Given the description of an element on the screen output the (x, y) to click on. 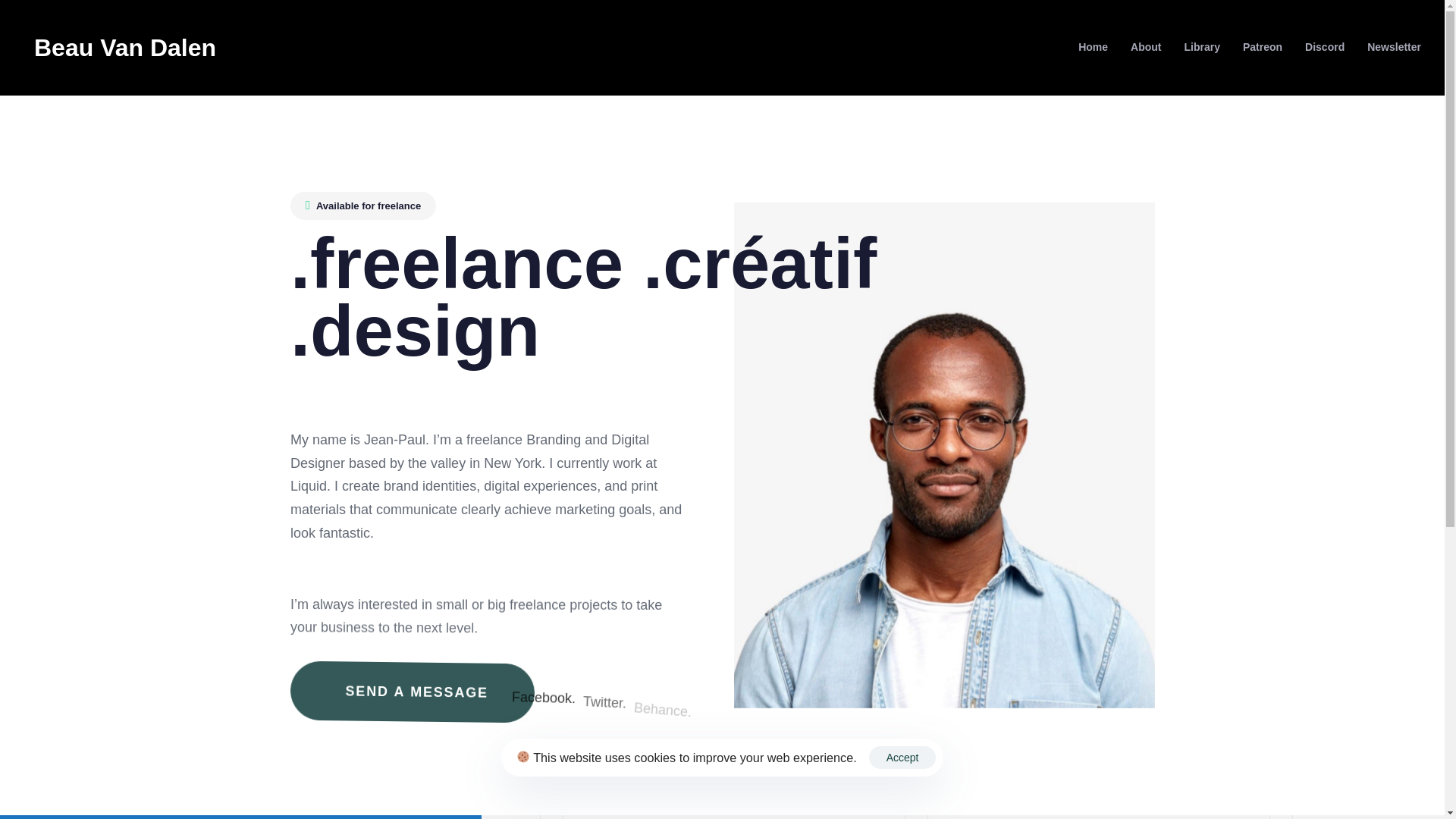
Twitter. (604, 701)
Behance. (411, 690)
Accept (661, 708)
Facebook. (902, 757)
